Given the description of an element on the screen output the (x, y) to click on. 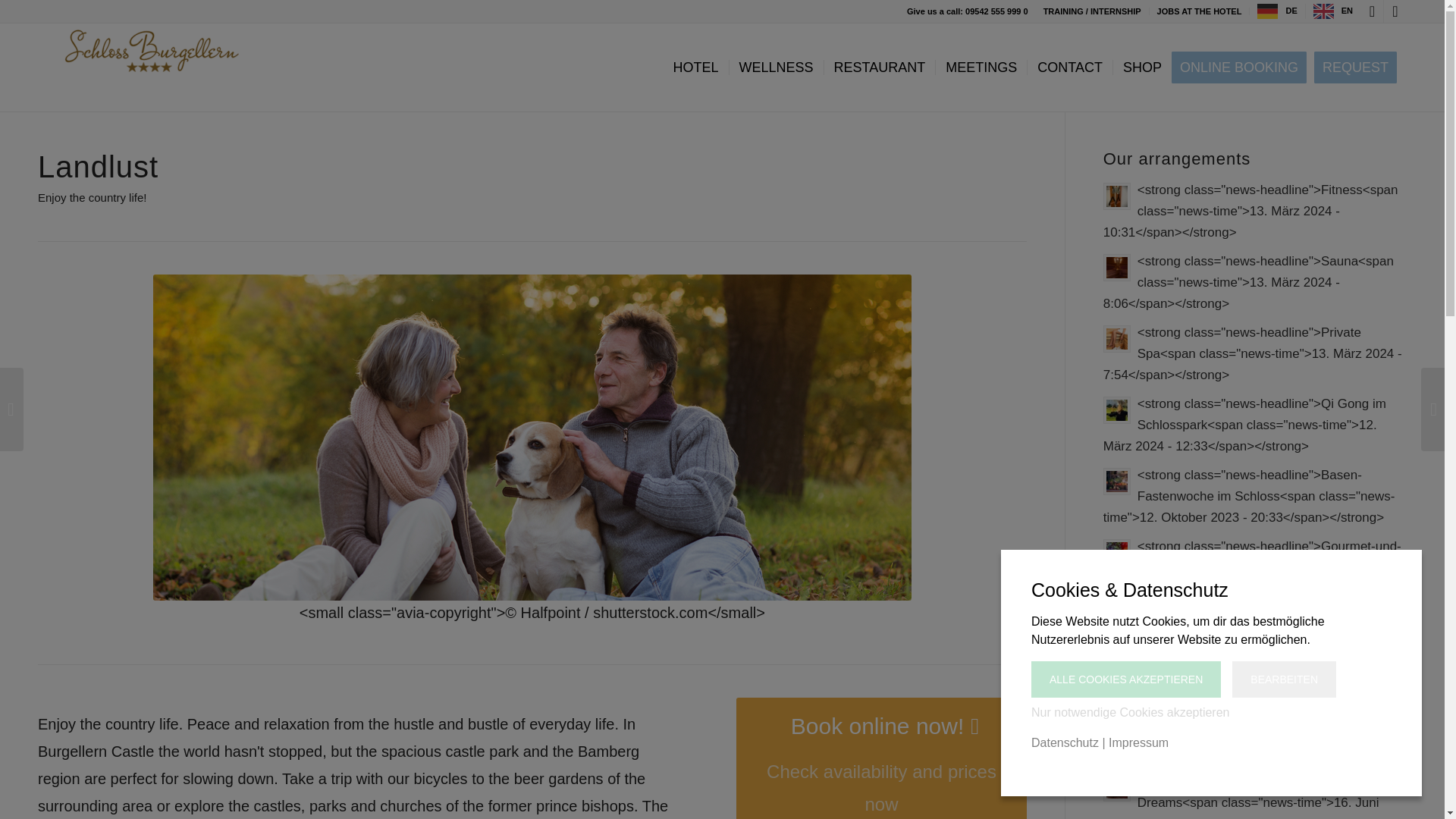
sauna (1254, 282)
CONTACT (1069, 67)
New Year's Eve 5 days (1254, 731)
English (1332, 10)
Qi Gong in the castle park (1254, 425)
ONLINE BOOKING (1244, 67)
Instagram (1395, 11)
Deutsch (1277, 10)
Suite Dreams (1254, 795)
JOBS AT THE HOTEL (1199, 11)
Gourmet and feast fasting week in the castle (1254, 578)
Private Spa (1254, 353)
RESTAURANT (880, 67)
EN (1332, 10)
Alkaline fasting week in the castle (1254, 496)
